Given the description of an element on the screen output the (x, y) to click on. 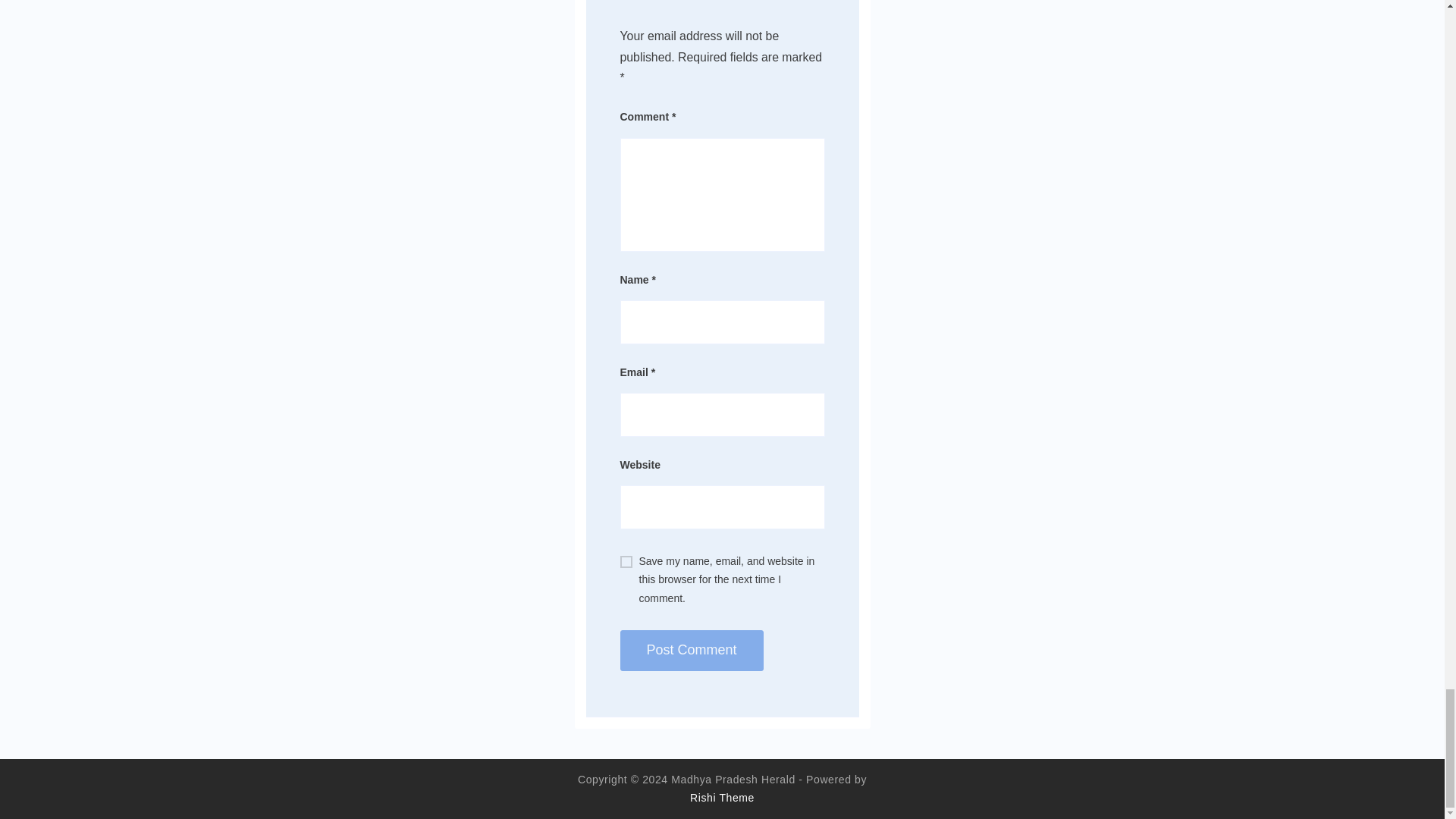
Post Comment (691, 649)
